Given the description of an element on the screen output the (x, y) to click on. 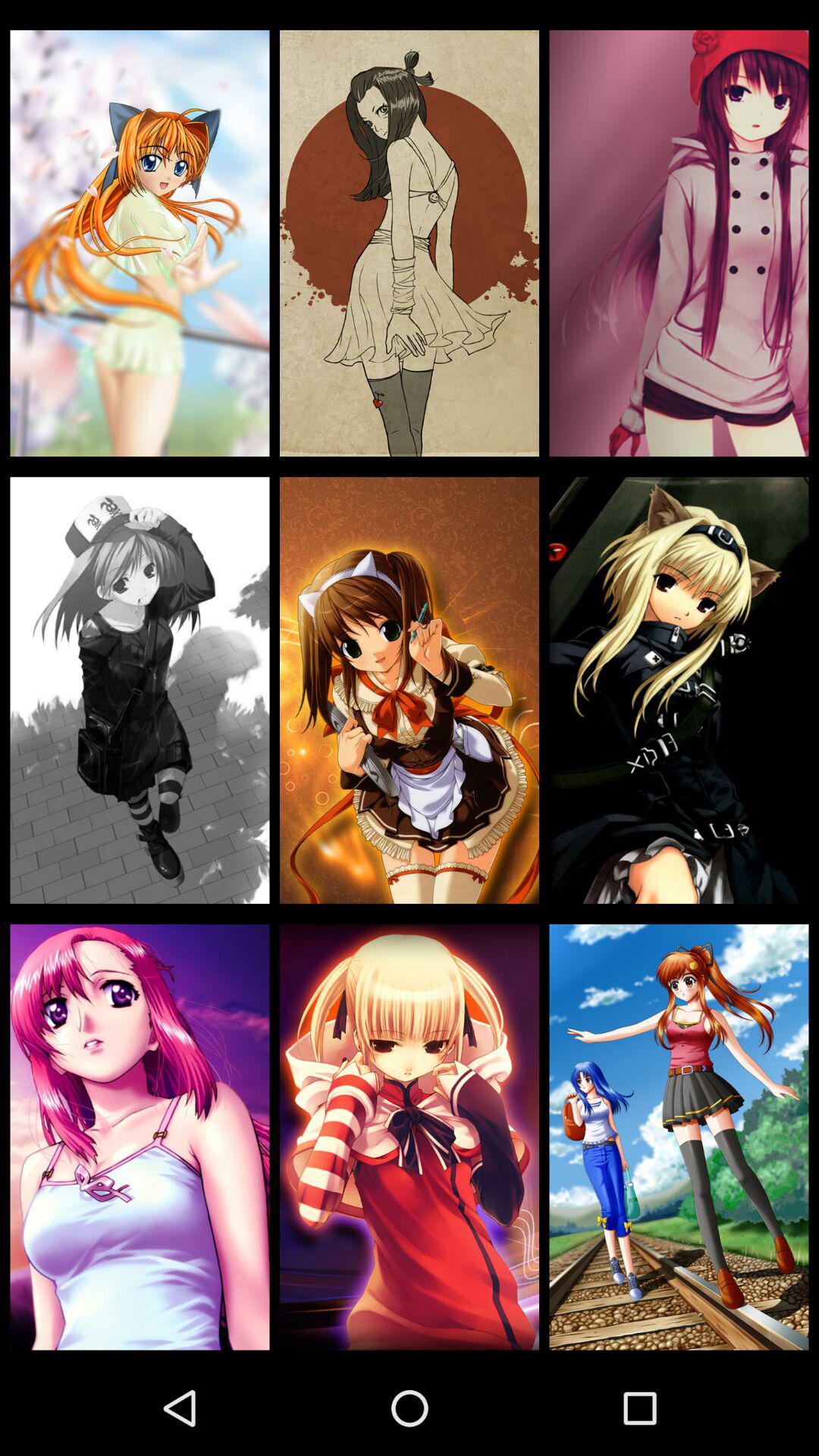
open image (139, 243)
